Given the description of an element on the screen output the (x, y) to click on. 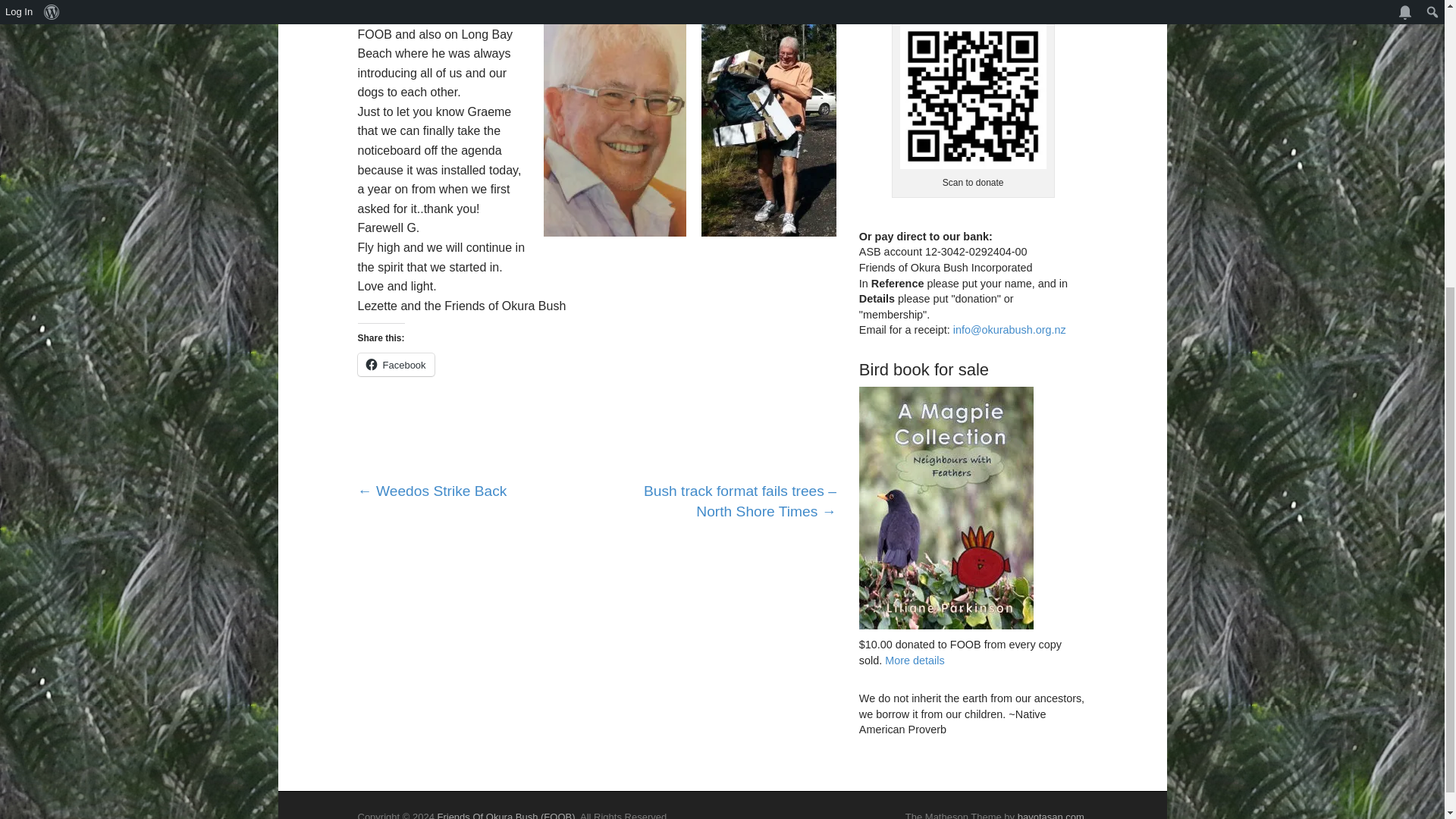
Facebook (395, 363)
More details (914, 660)
Click to share on Facebook (395, 363)
Donate via Stripe (921, 1)
